Given the description of an element on the screen output the (x, y) to click on. 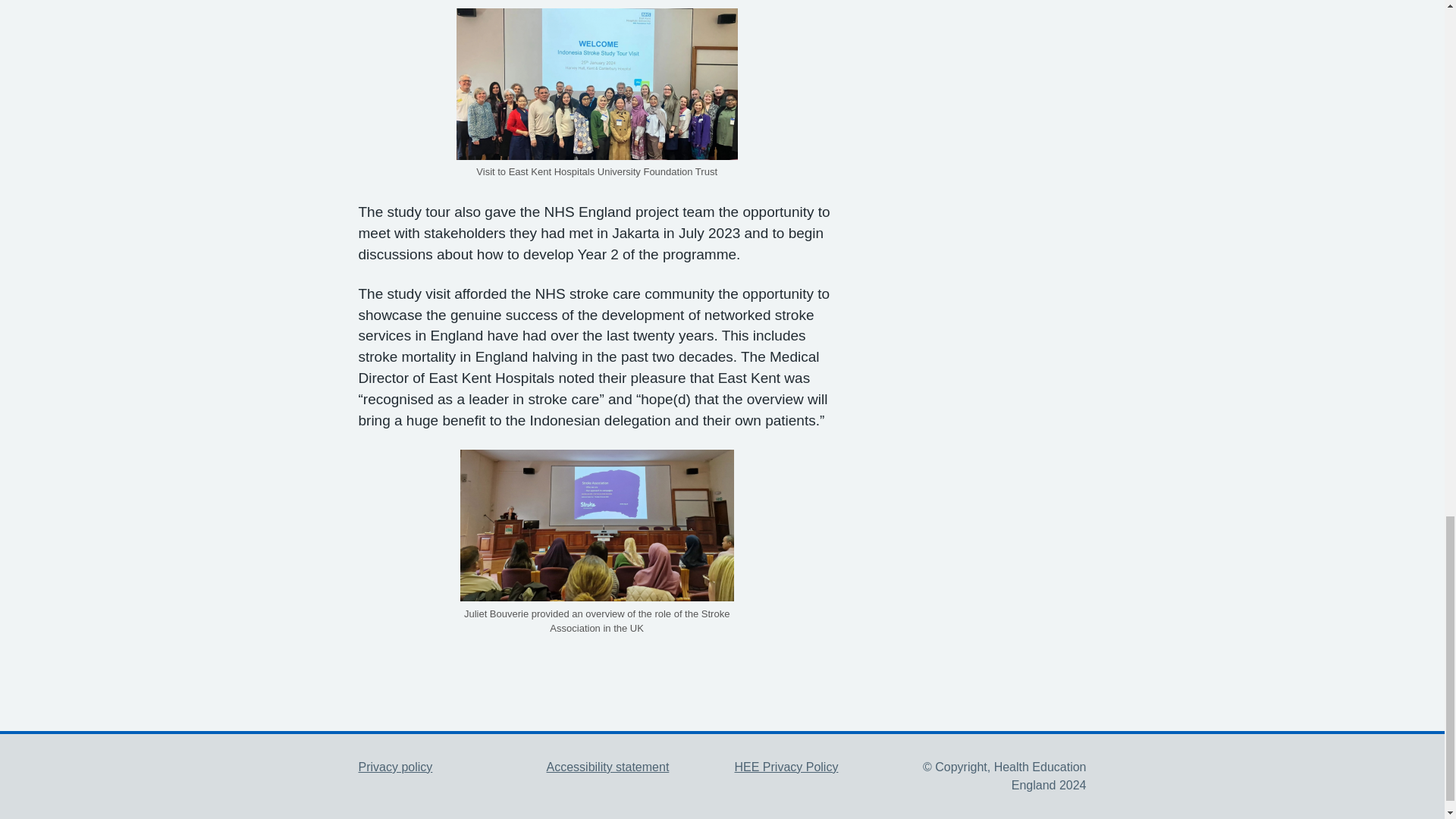
Privacy policy (395, 766)
Accessibility statement (607, 766)
HEE Privacy Policy (785, 766)
